Given the description of an element on the screen output the (x, y) to click on. 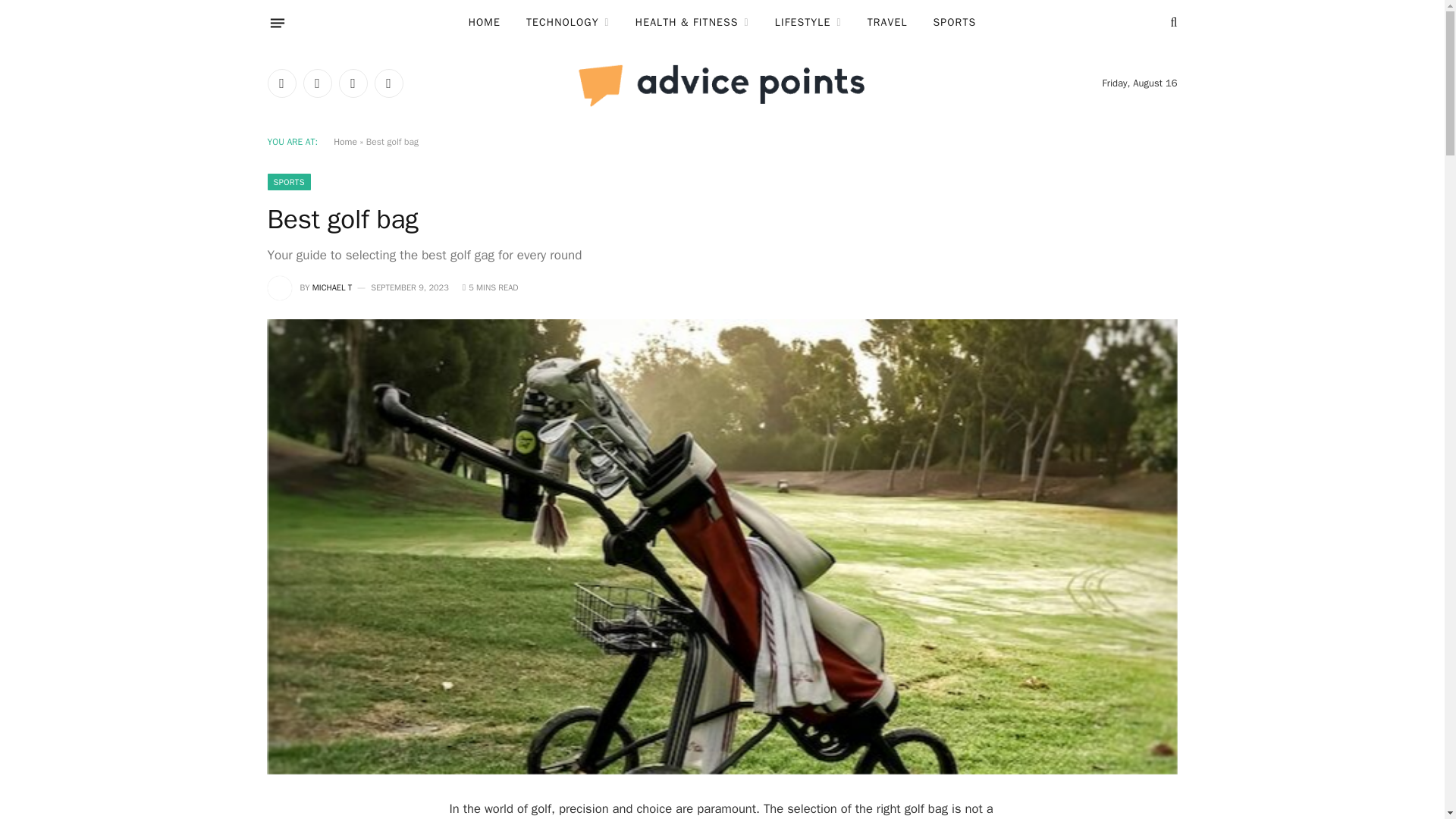
TRAVEL (887, 22)
SPORTS (955, 22)
HOME (484, 22)
LIFESTYLE (807, 22)
TECHNOLOGY (568, 22)
